Given the description of an element on the screen output the (x, y) to click on. 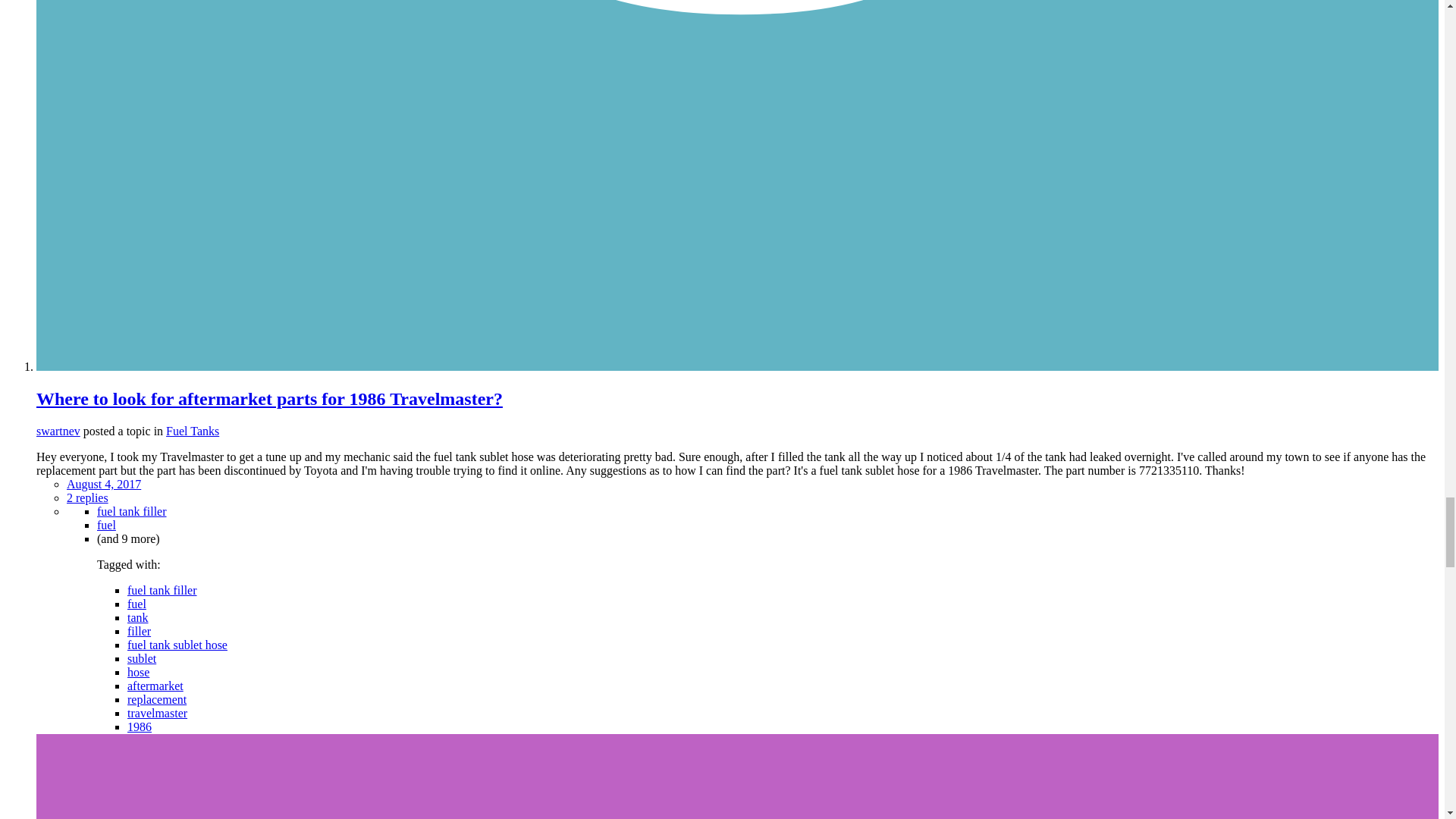
Find other content tagged with 'fuel tank filler' (132, 511)
Find other content tagged with 'fuel' (106, 524)
Find other content tagged with 'aftermarket' (155, 685)
Find other content tagged with 'travelmaster' (157, 712)
Find other content tagged with 'fuel' (137, 603)
Go to swartnev's profile (58, 431)
Find other content tagged with 'tank' (138, 617)
Find other content tagged with 'fuel tank sublet hose' (177, 644)
Find other content tagged with 'filler' (139, 631)
Find other content tagged with 'fuel tank filler' (162, 590)
Find other content tagged with 'hose' (138, 671)
Find other content tagged with 'replacement' (157, 698)
Find other content tagged with 'sublet' (141, 658)
